Given the description of an element on the screen output the (x, y) to click on. 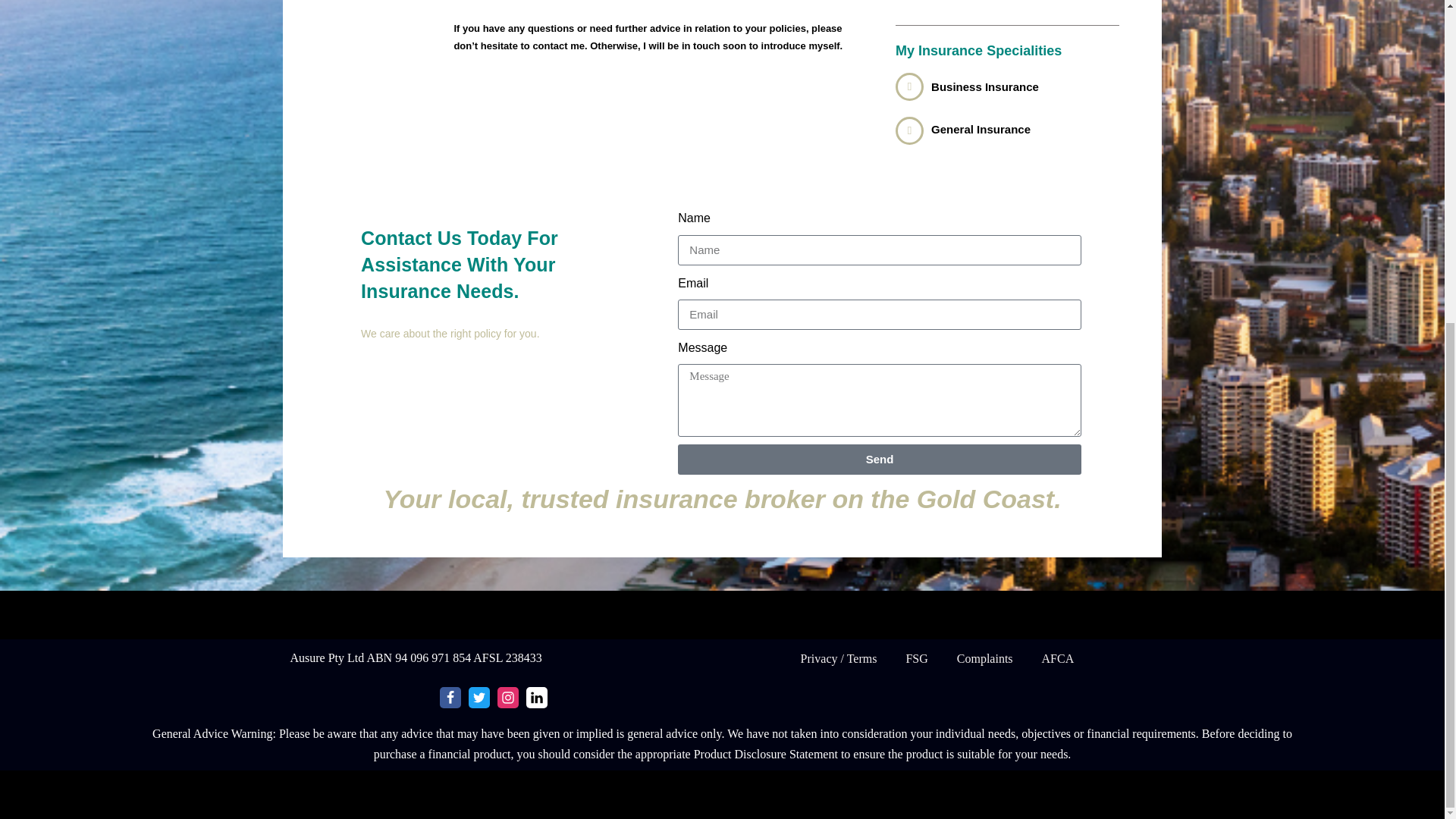
Twitter (478, 697)
Linkedin (536, 697)
Instagram (507, 697)
Facebook (450, 697)
